Given the description of an element on the screen output the (x, y) to click on. 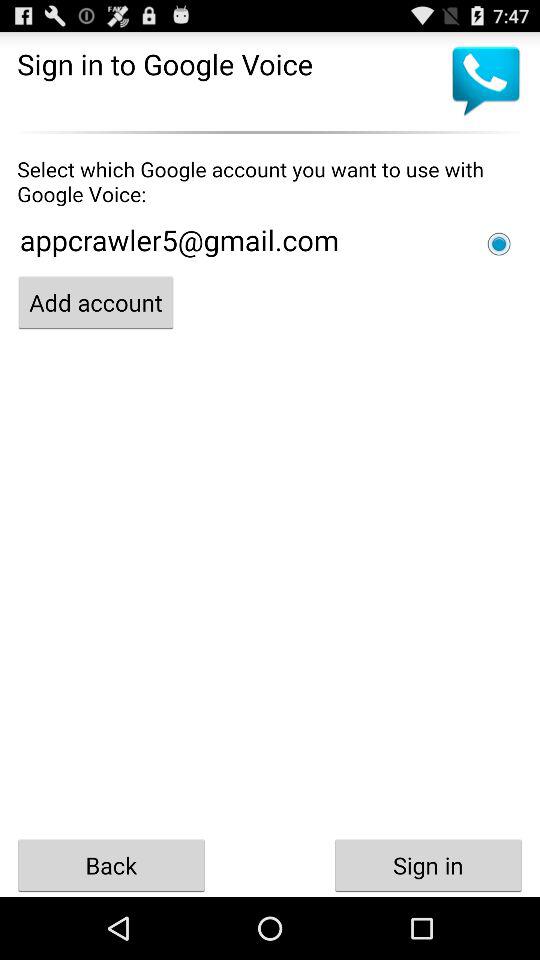
radio button (499, 244)
